Given the description of an element on the screen output the (x, y) to click on. 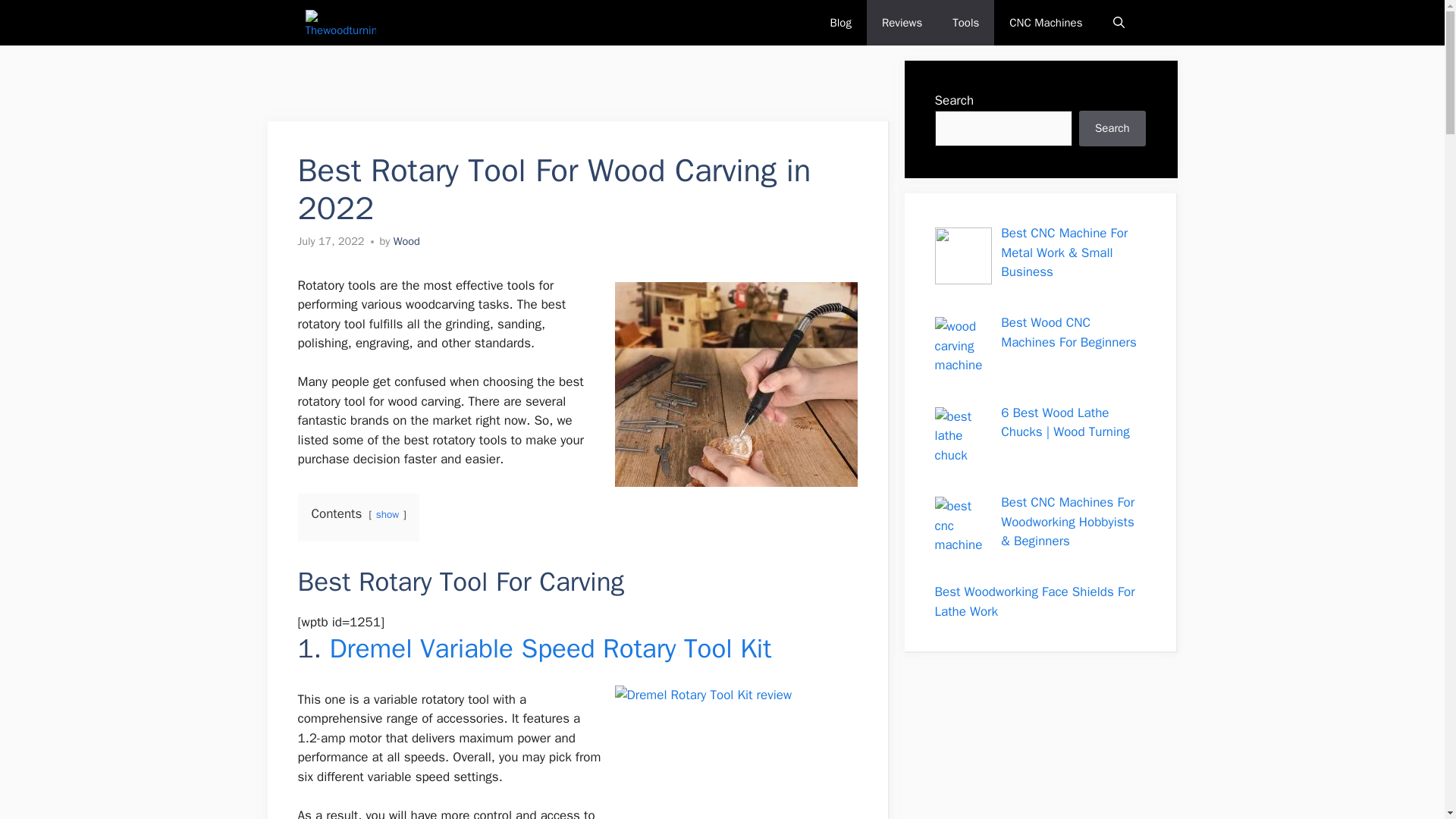
Blog (839, 22)
CNC Machines (1045, 22)
Thewoodturning (339, 22)
View all posts by Wood (406, 241)
Dremel Variable Speed Rotary Tool Kit (550, 648)
Tools (965, 22)
Reviews (901, 22)
show (386, 513)
Wood (406, 241)
